Given the description of an element on the screen output the (x, y) to click on. 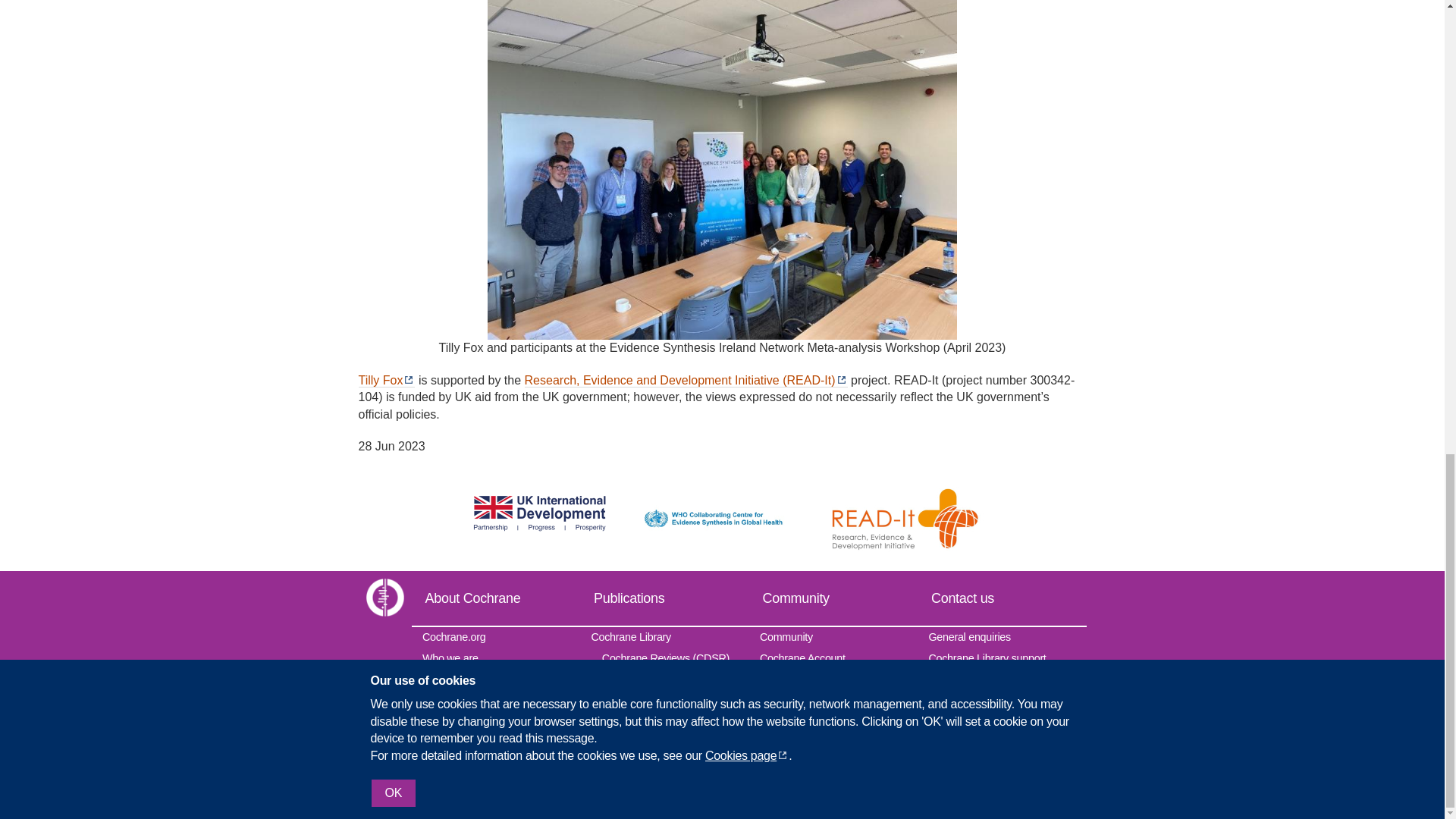
Tilly Fox (386, 380)
YouTube (1006, 786)
LinkedIn (1072, 786)
RSS (909, 786)
In the news (494, 764)
Publications (664, 597)
Colloquium (494, 740)
Get involved (494, 678)
About Cochrane (494, 597)
WHO (721, 508)
